Given the description of an element on the screen output the (x, y) to click on. 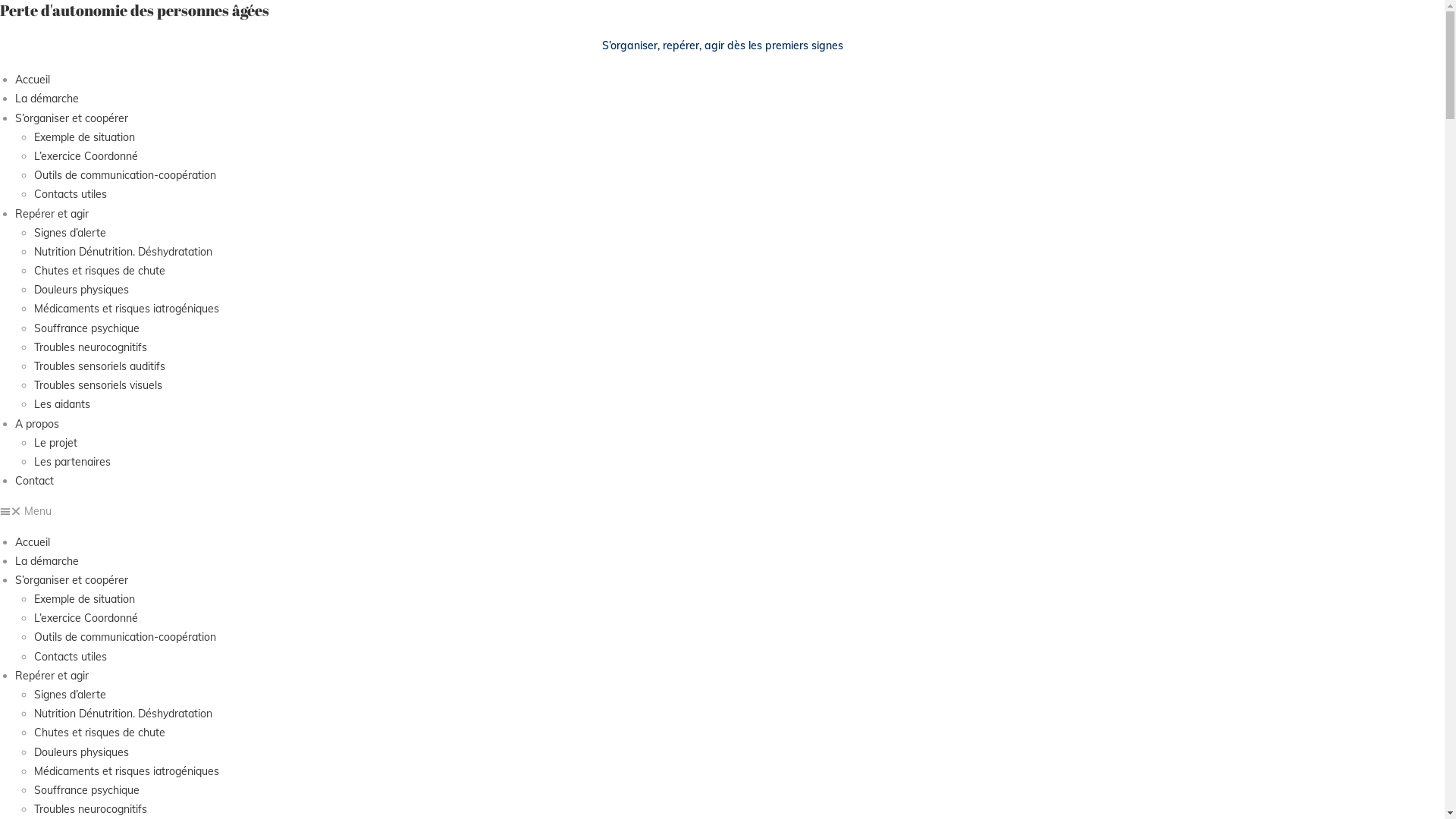
Accueil Element type: text (32, 79)
Troubles neurocognitifs Element type: text (90, 347)
Troubles sensoriels auditifs Element type: text (99, 366)
Exemple de situation Element type: text (84, 598)
Troubles neurocognitifs Element type: text (90, 808)
Troubles sensoriels visuels Element type: text (98, 385)
Contacts utiles Element type: text (70, 656)
Contacts utiles Element type: text (70, 193)
Les partenaires Element type: text (72, 461)
Souffrance psychique Element type: text (86, 328)
Chutes et risques de chute Element type: text (99, 732)
Souffrance psychique Element type: text (86, 790)
Exemple de situation Element type: text (84, 137)
Douleurs physiques Element type: text (81, 752)
Contact Element type: text (34, 480)
Accueil Element type: text (32, 542)
Les aidants Element type: text (62, 404)
A propos Element type: text (37, 423)
Douleurs physiques Element type: text (81, 289)
Chutes et risques de chute Element type: text (99, 270)
Le projet Element type: text (55, 442)
